Given the description of an element on the screen output the (x, y) to click on. 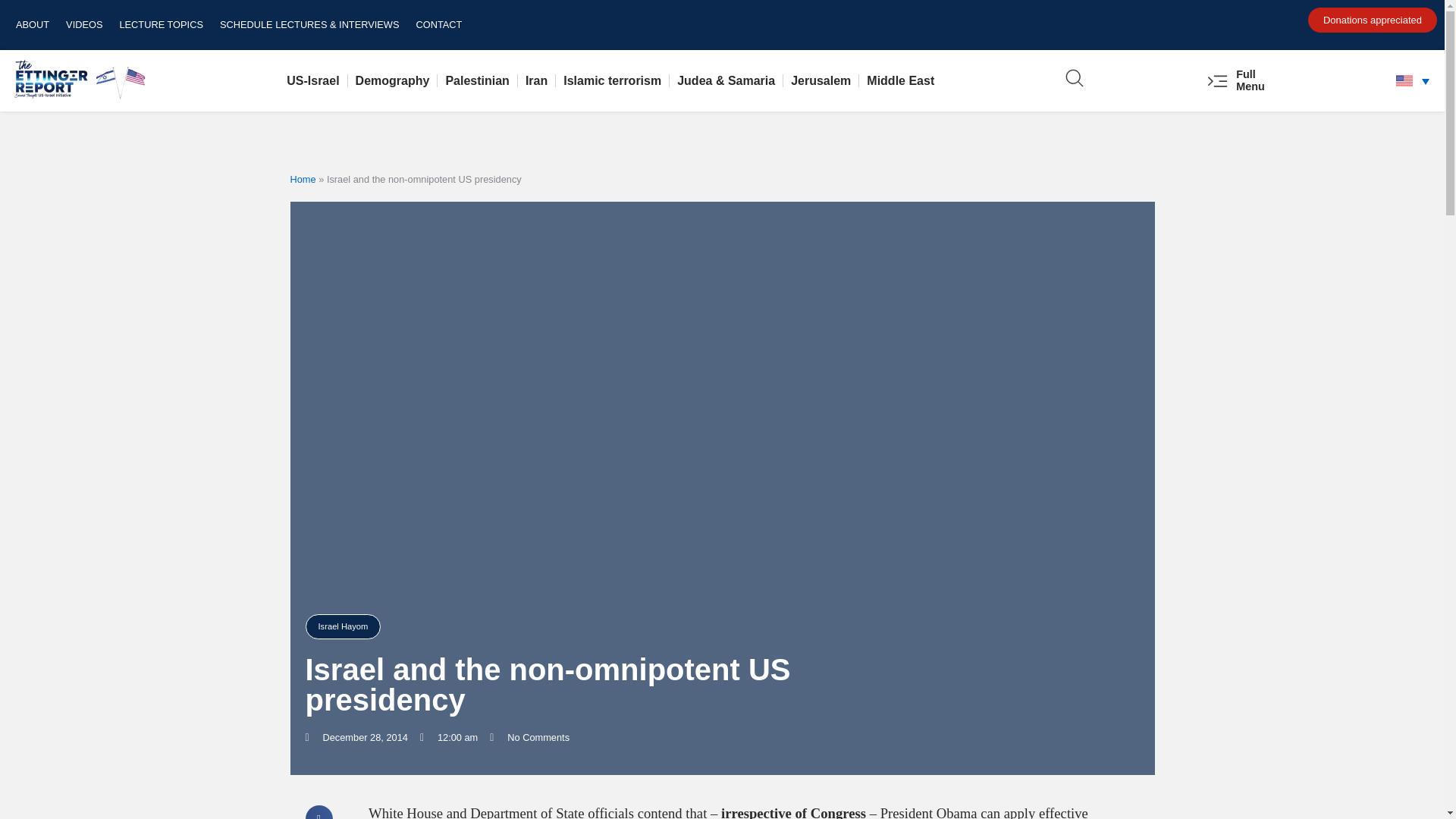
Donations appreciated (1372, 19)
LECTURE TOPICS (160, 24)
Iran (536, 80)
CONTACT (438, 24)
Demography (392, 80)
US-Israel (312, 80)
VIDEOS (84, 24)
Palestinian (477, 80)
ABOUT (32, 24)
